Given the description of an element on the screen output the (x, y) to click on. 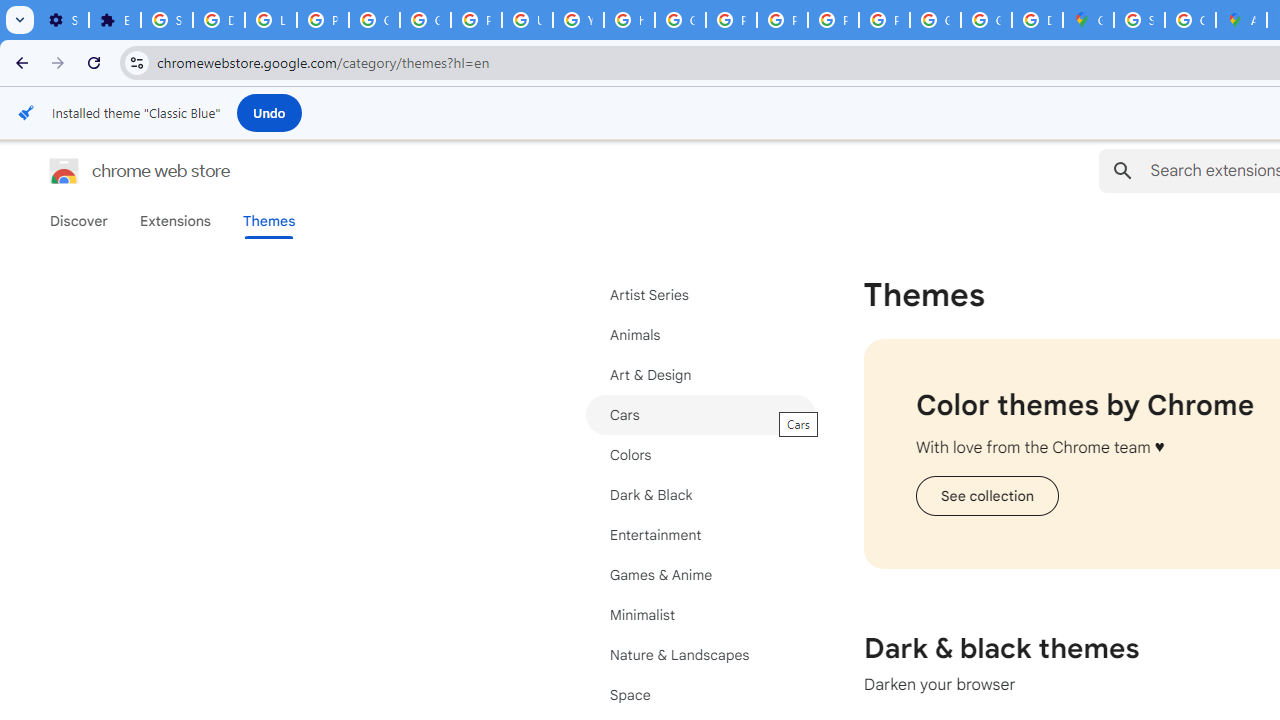
Undo (269, 112)
Minimalist (700, 614)
Entertainment (700, 534)
Google Account Help (374, 20)
Nature & Landscapes (700, 655)
Privacy Help Center - Policies Help (731, 20)
Sign in - Google Accounts (166, 20)
Themes (269, 221)
YouTube (578, 20)
Create your Google Account (1189, 20)
Animals (700, 334)
